Given the description of an element on the screen output the (x, y) to click on. 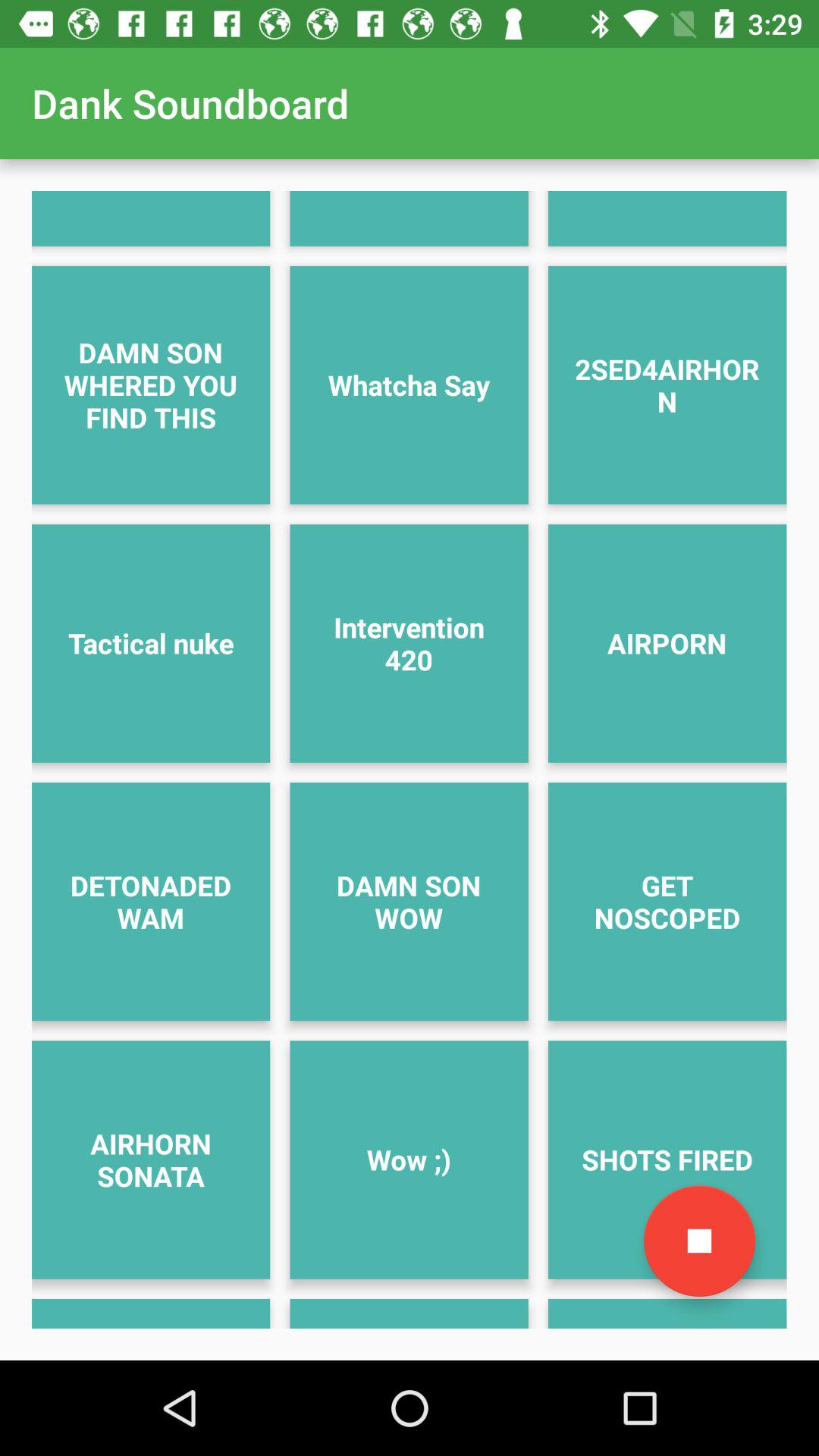
record sound (699, 1240)
